Given the description of an element on the screen output the (x, y) to click on. 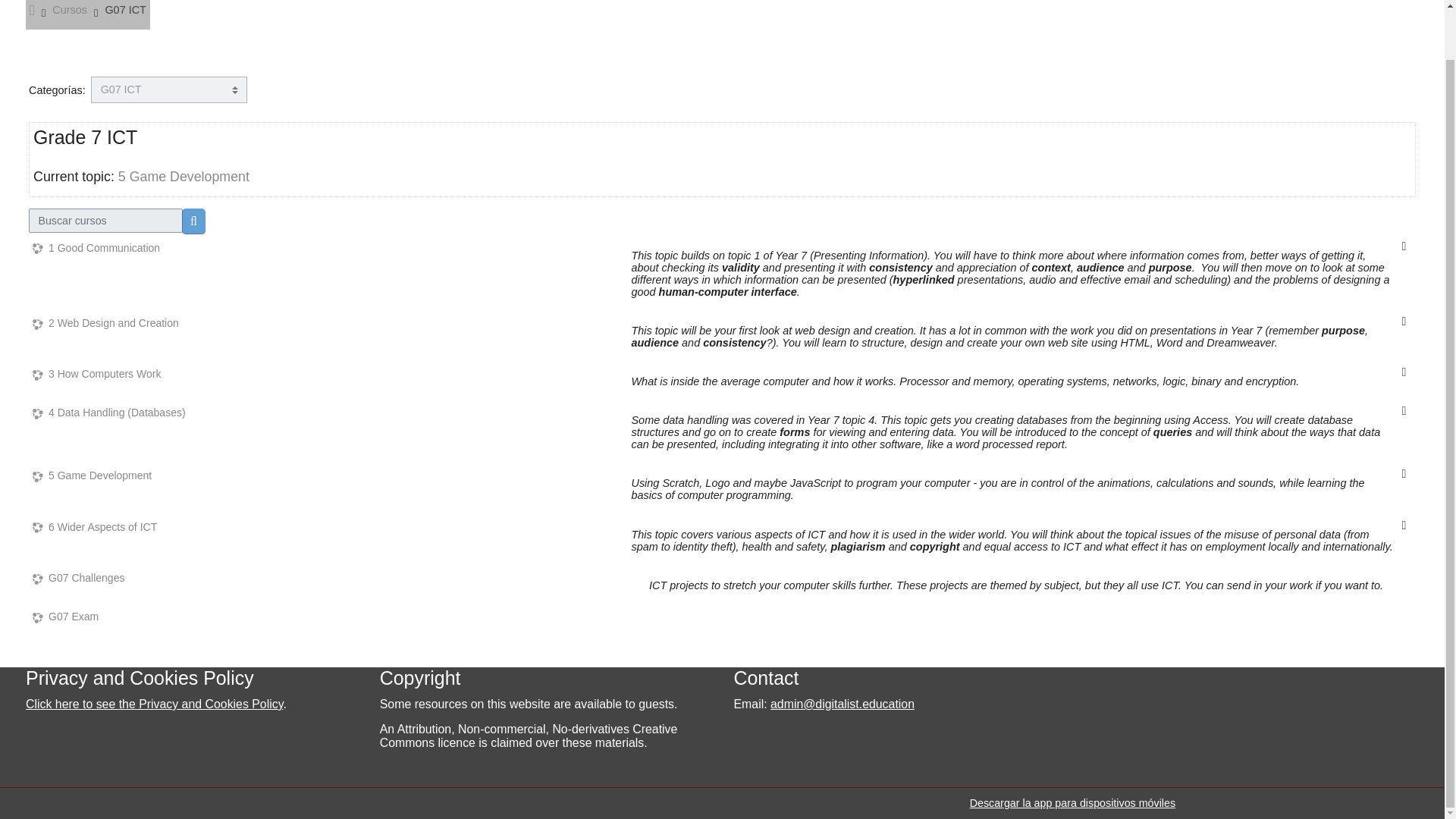
2 Web Design and Creation (105, 323)
1 Good Communication (96, 247)
G07 Exam (65, 616)
Click here to see the Privacy and Cookies Policy (154, 703)
5 Game Development (91, 475)
Buscar cursos (193, 220)
5 Game Development (182, 176)
3 How Computers Work (96, 373)
Cursos (69, 9)
G07 Challenges (77, 577)
6 Wider Aspects of ICT (94, 526)
G07 ICT (125, 9)
